Given the description of an element on the screen output the (x, y) to click on. 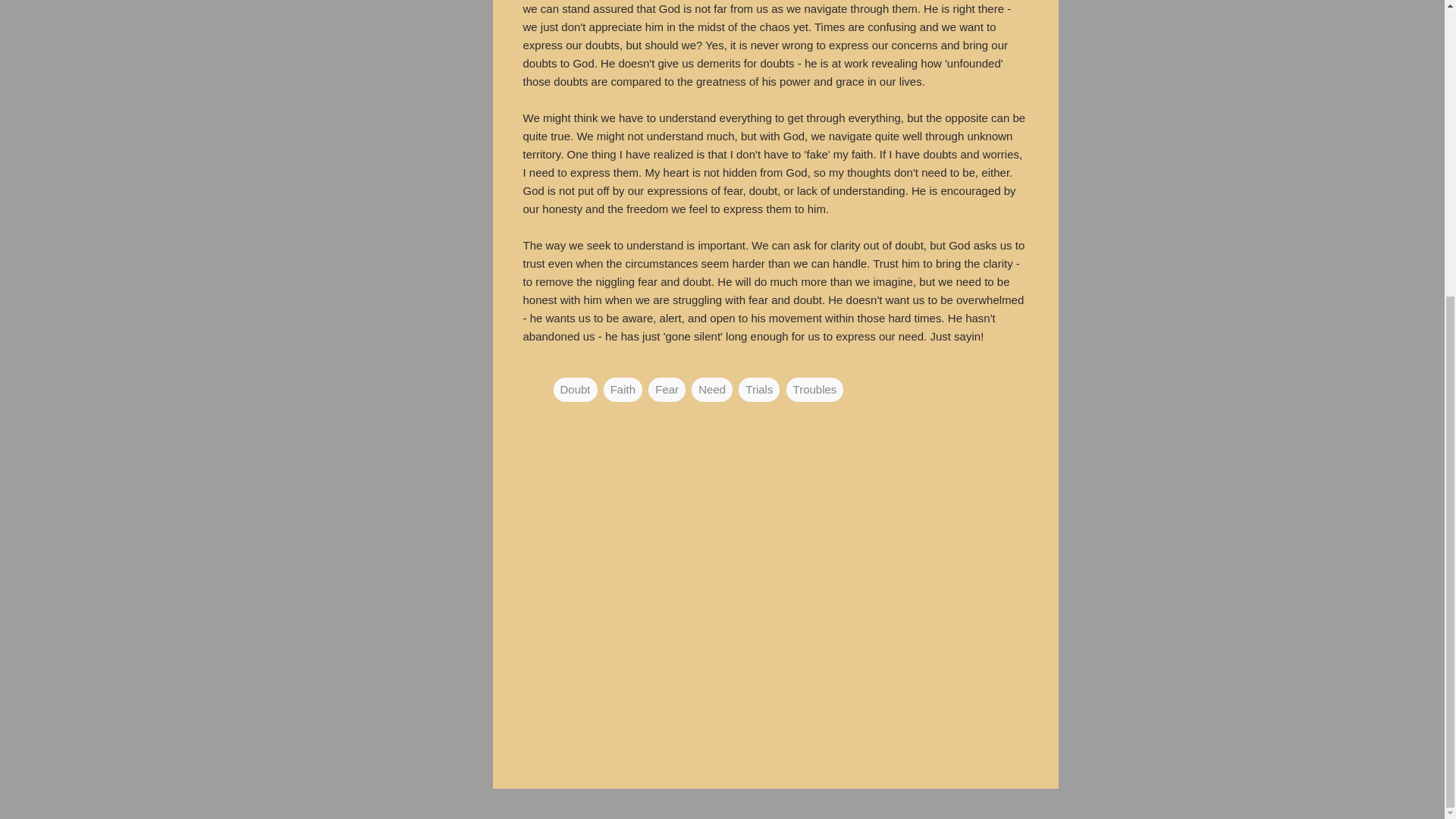
Faith (623, 388)
Need (711, 388)
Trials (758, 388)
Doubt (574, 388)
Fear (666, 388)
Troubles (815, 388)
